Given the description of an element on the screen output the (x, y) to click on. 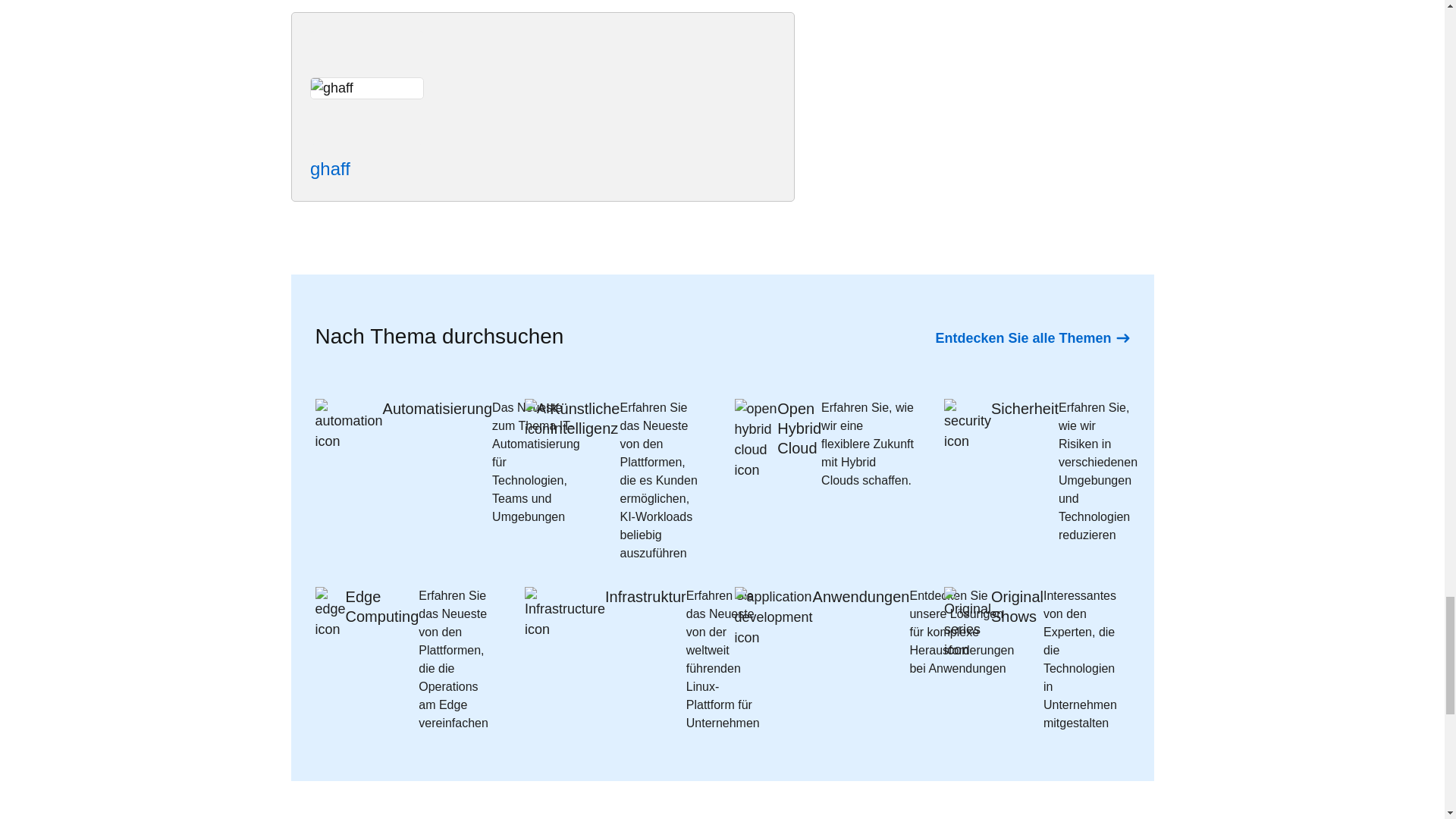
Entdecken Sie alle Themen (1031, 338)
